Given the description of an element on the screen output the (x, y) to click on. 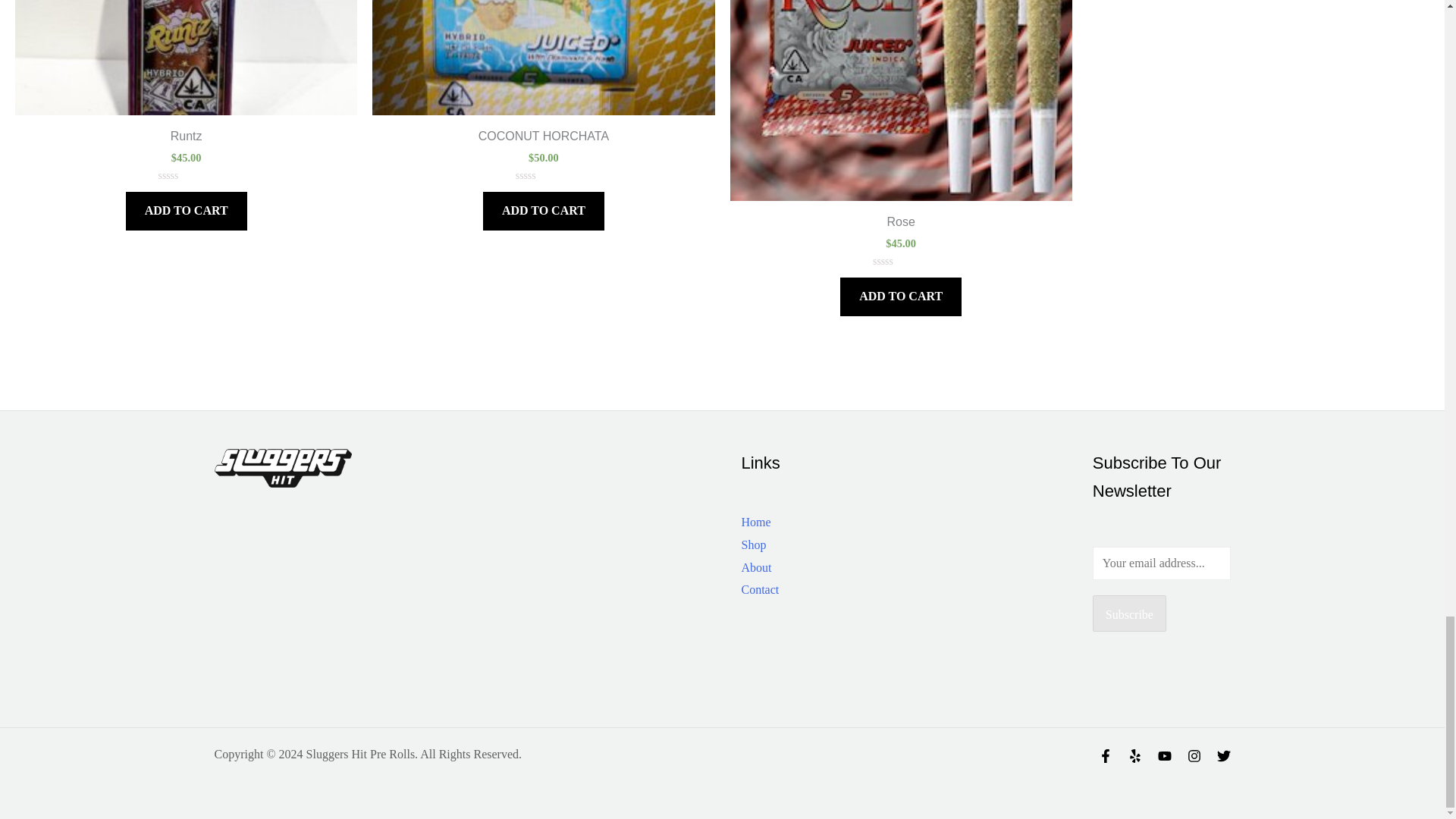
COCONUT HORCHATA (543, 139)
ADD TO CART (543, 210)
Runtz (185, 139)
ADD TO CART (186, 210)
ADD TO CART (900, 296)
Rose (900, 225)
